Given the description of an element on the screen output the (x, y) to click on. 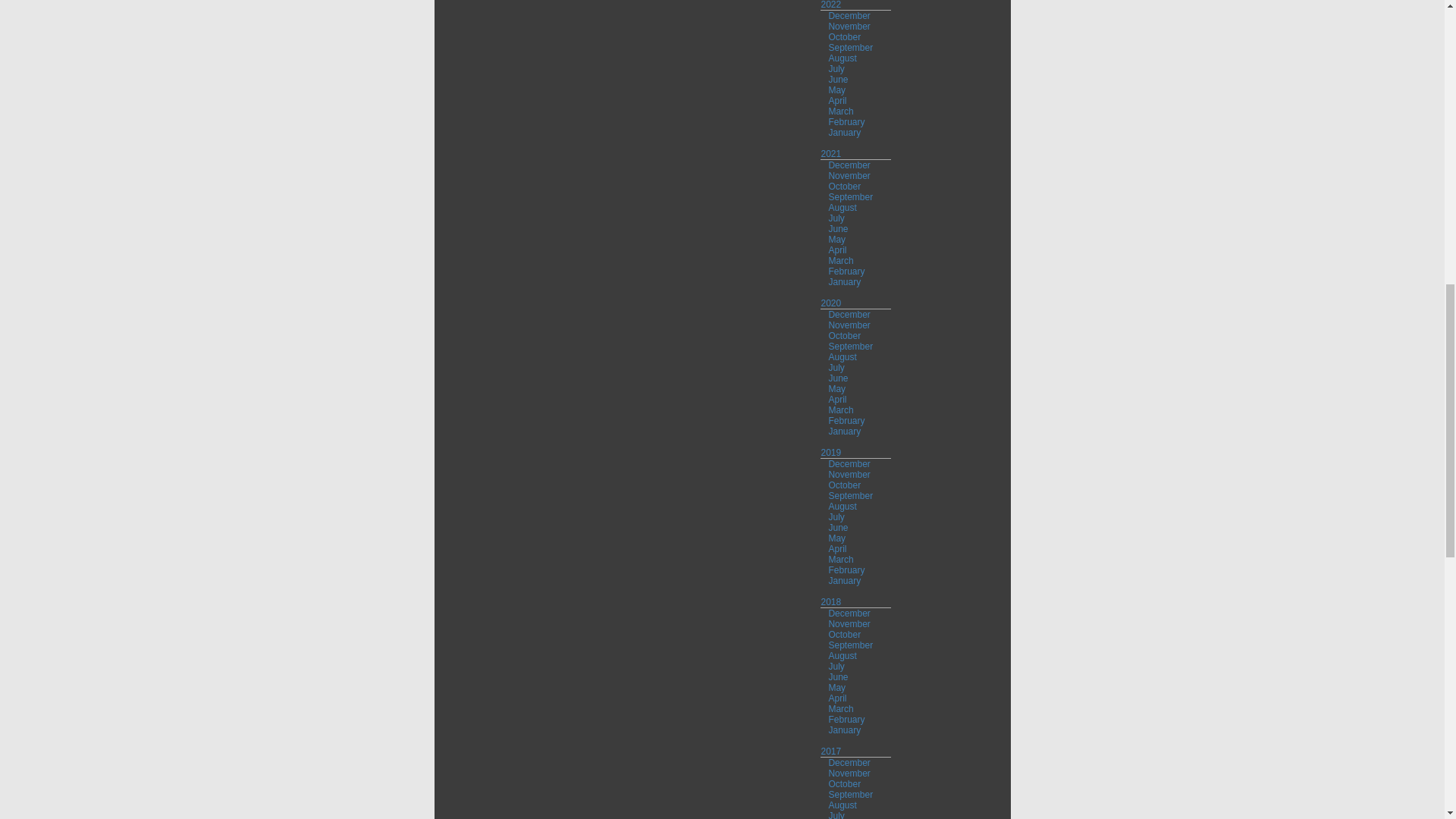
October (844, 36)
July (836, 68)
2022 (831, 4)
August (842, 58)
September (850, 47)
December (848, 15)
November (848, 26)
